Given the description of an element on the screen output the (x, y) to click on. 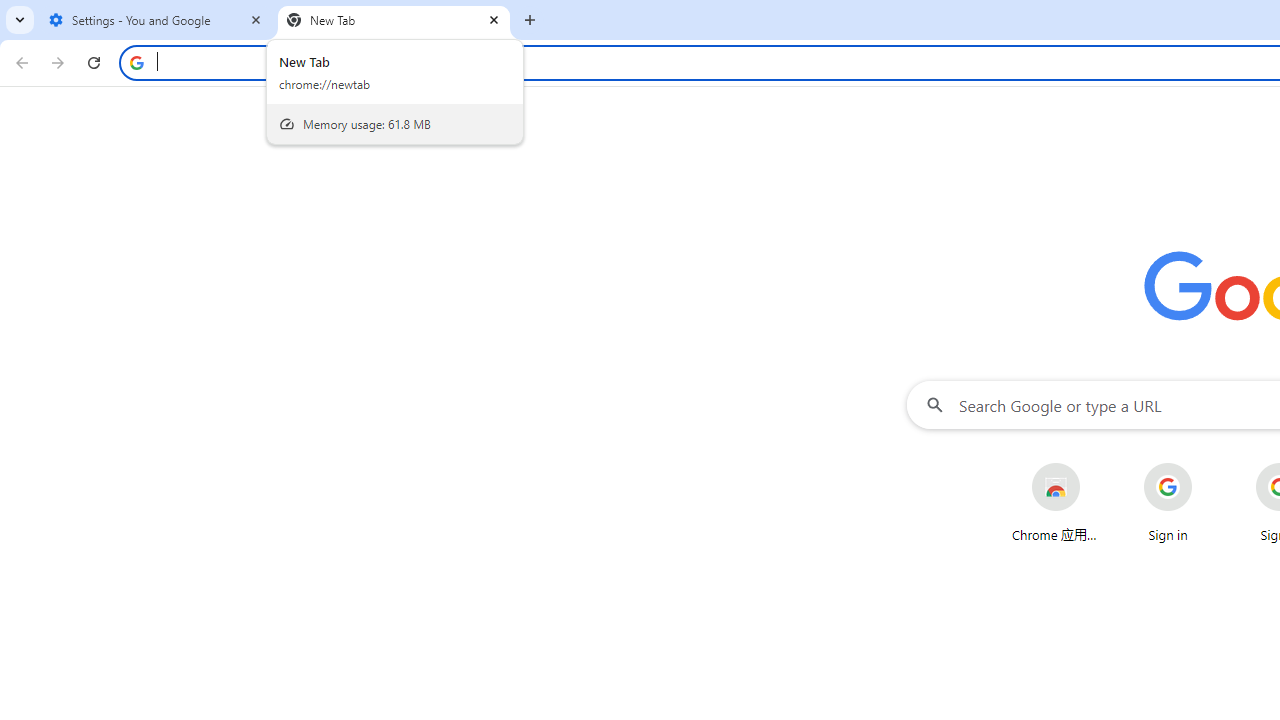
Search icon (136, 62)
Forward (57, 62)
Back (19, 62)
New Tab (394, 20)
Search tabs (20, 20)
Settings - You and Google (156, 20)
Close (494, 19)
Sign in (1167, 502)
Reload (93, 62)
More actions for Sign in shortcut (1208, 464)
New Tab (529, 20)
